Given the description of an element on the screen output the (x, y) to click on. 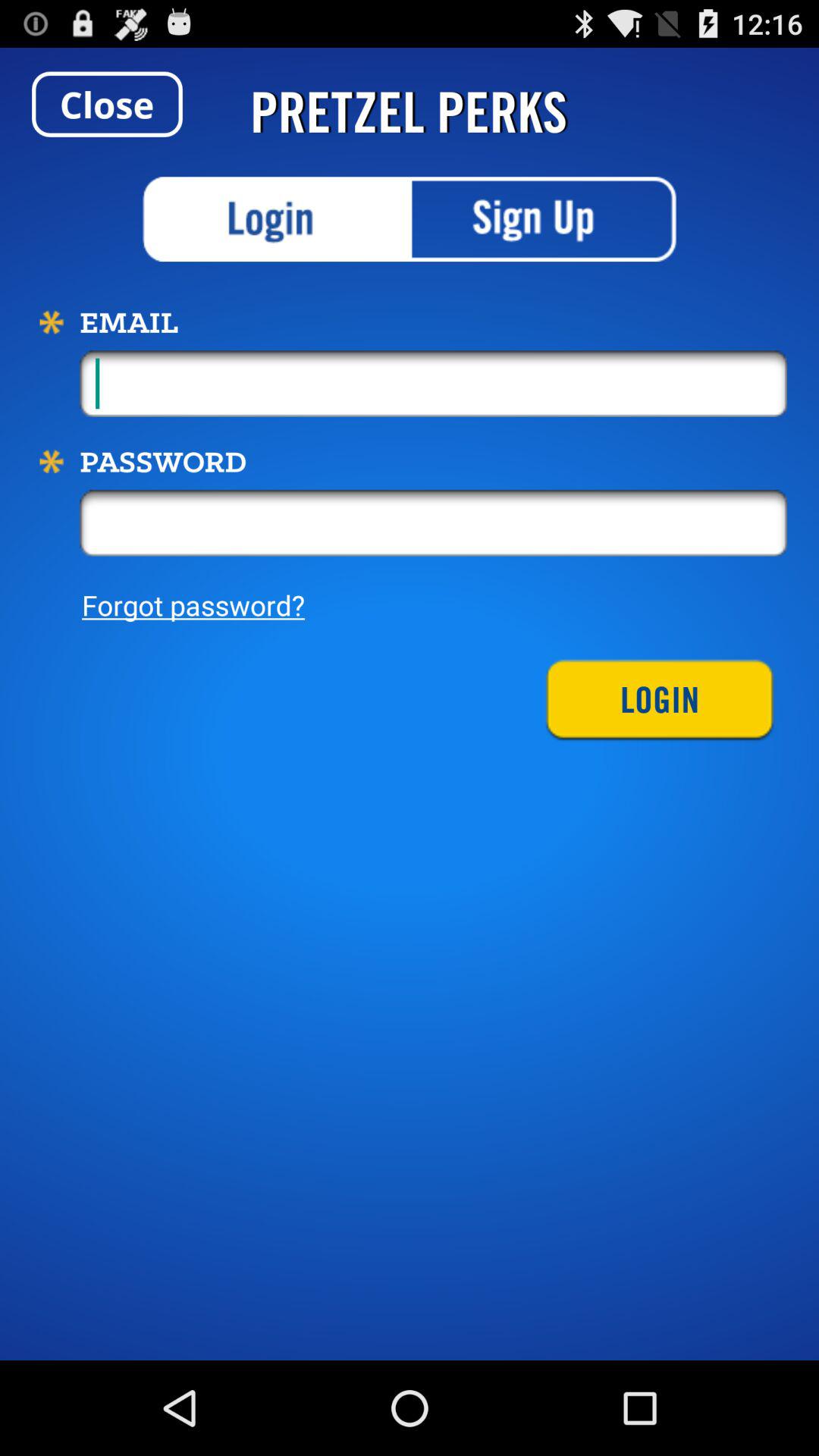
enter email (433, 383)
